Given the description of an element on the screen output the (x, y) to click on. 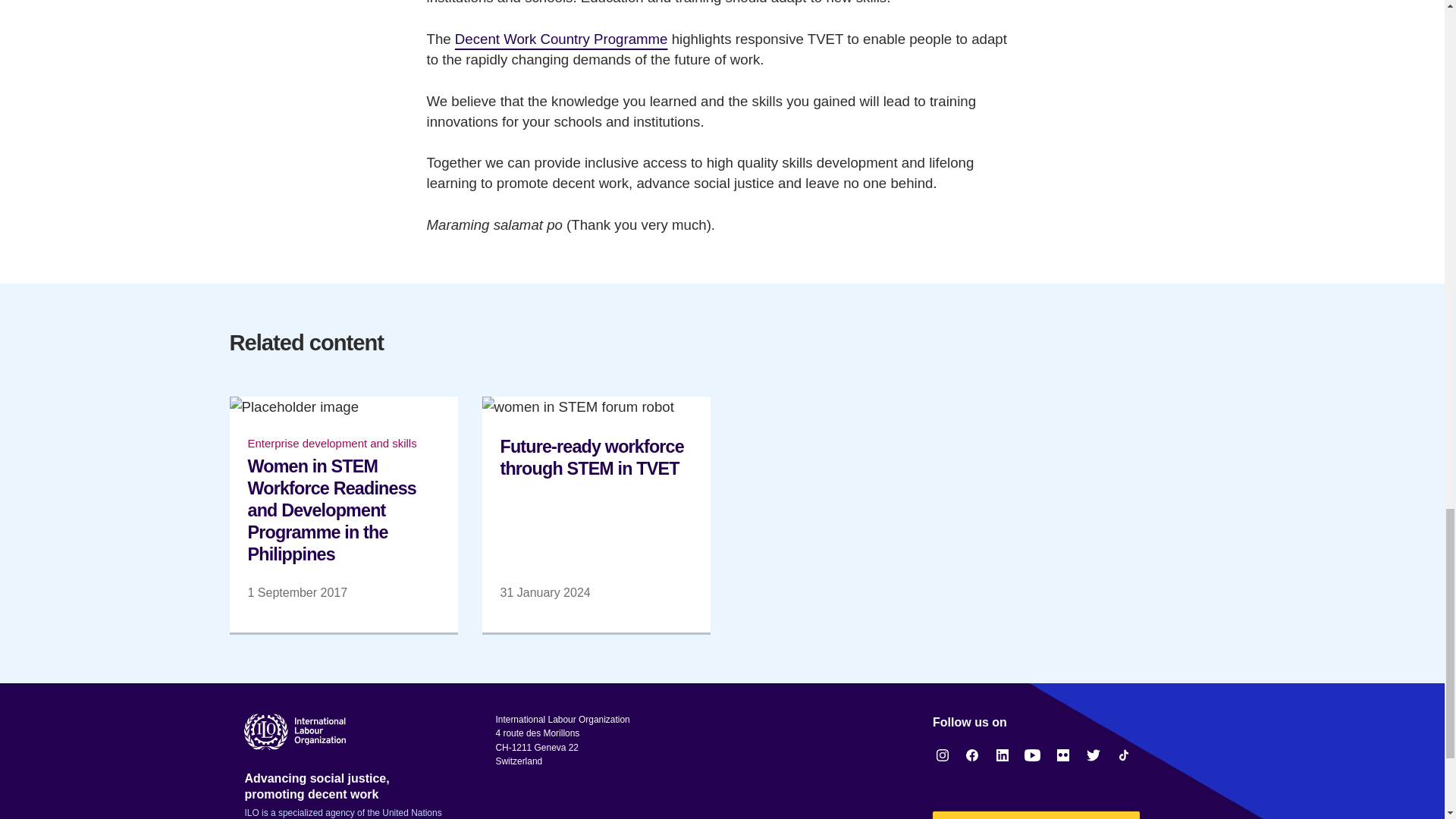
Linkedin (1001, 755)
Future-ready workforce through STEM in TVET (595, 513)
Flickr (1062, 755)
Decent Work Country Programme (561, 40)
Twitter (1093, 755)
Instagram (941, 755)
Tiktok (1123, 755)
Youtube (1032, 755)
Facebook (971, 755)
